Given the description of an element on the screen output the (x, y) to click on. 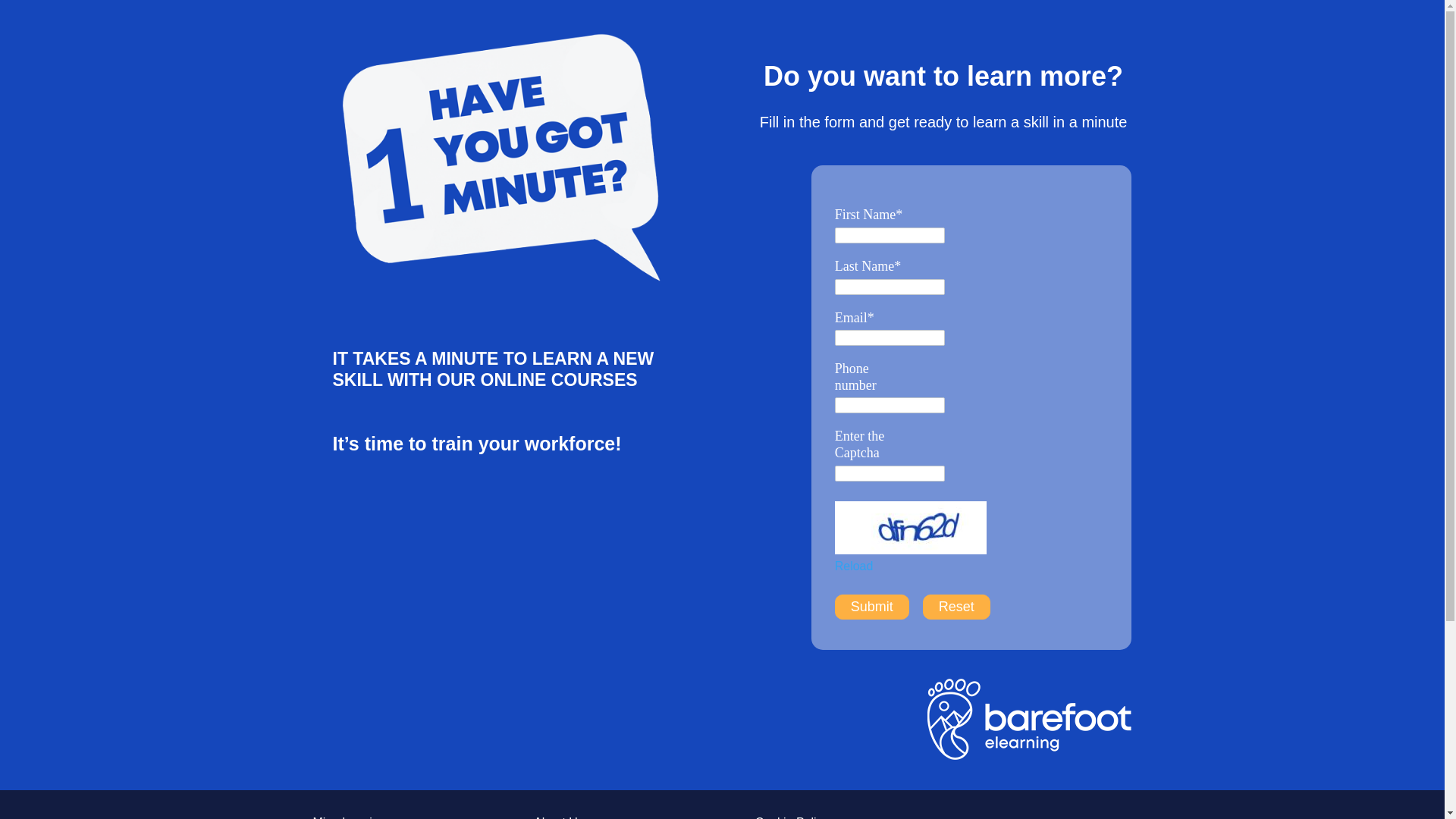
have-you-got-a-minute (500, 158)
Submit (871, 606)
Reset (956, 606)
barefoot-elearning-lp-logo (1029, 721)
Submit (871, 606)
Reset (956, 606)
